Given the description of an element on the screen output the (x, y) to click on. 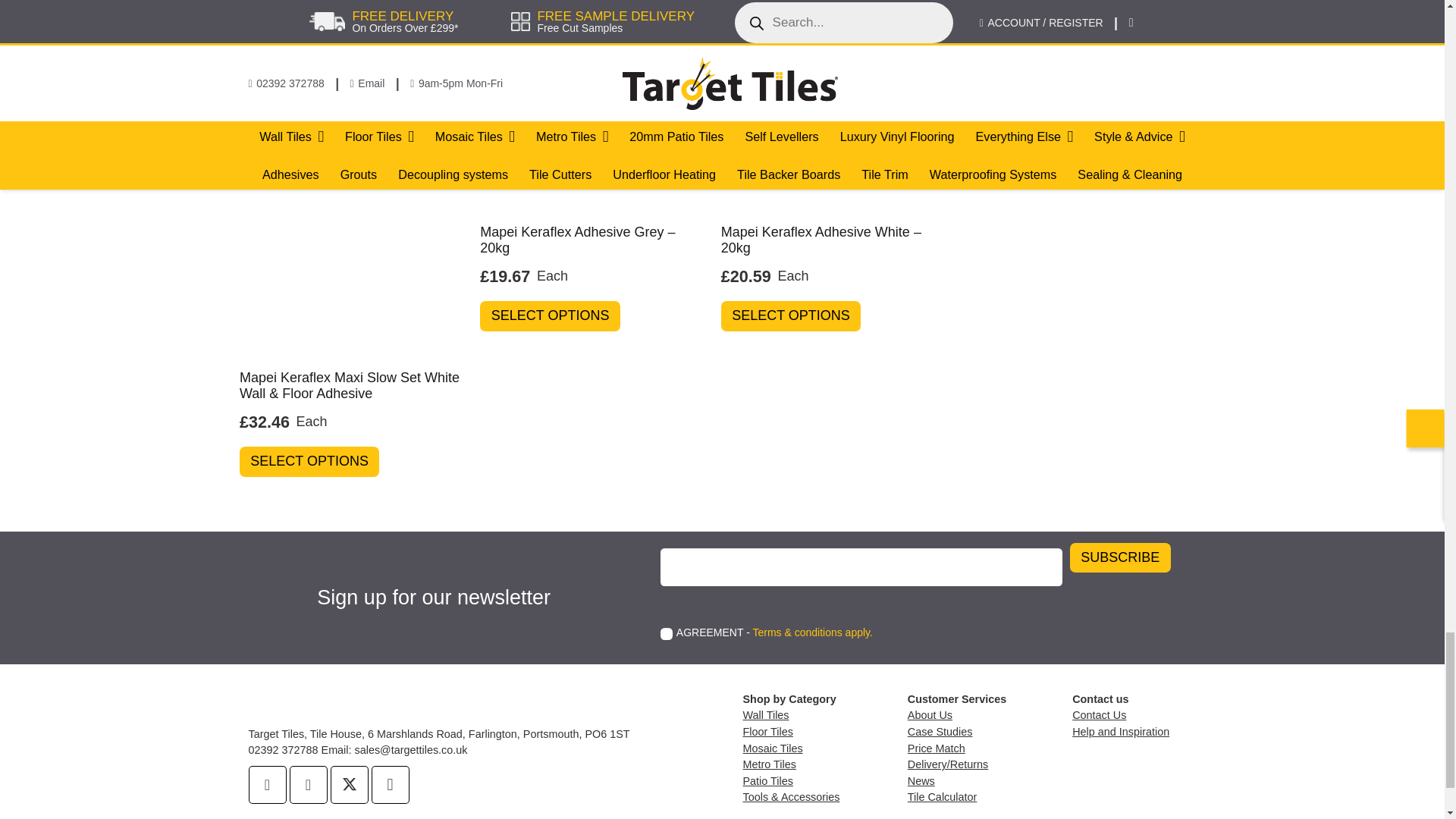
Instagram (390, 784)
1 (666, 633)
Pinterest (308, 784)
Twitter (349, 784)
Facebook (267, 784)
Subscribe (1120, 557)
